Given the description of an element on the screen output the (x, y) to click on. 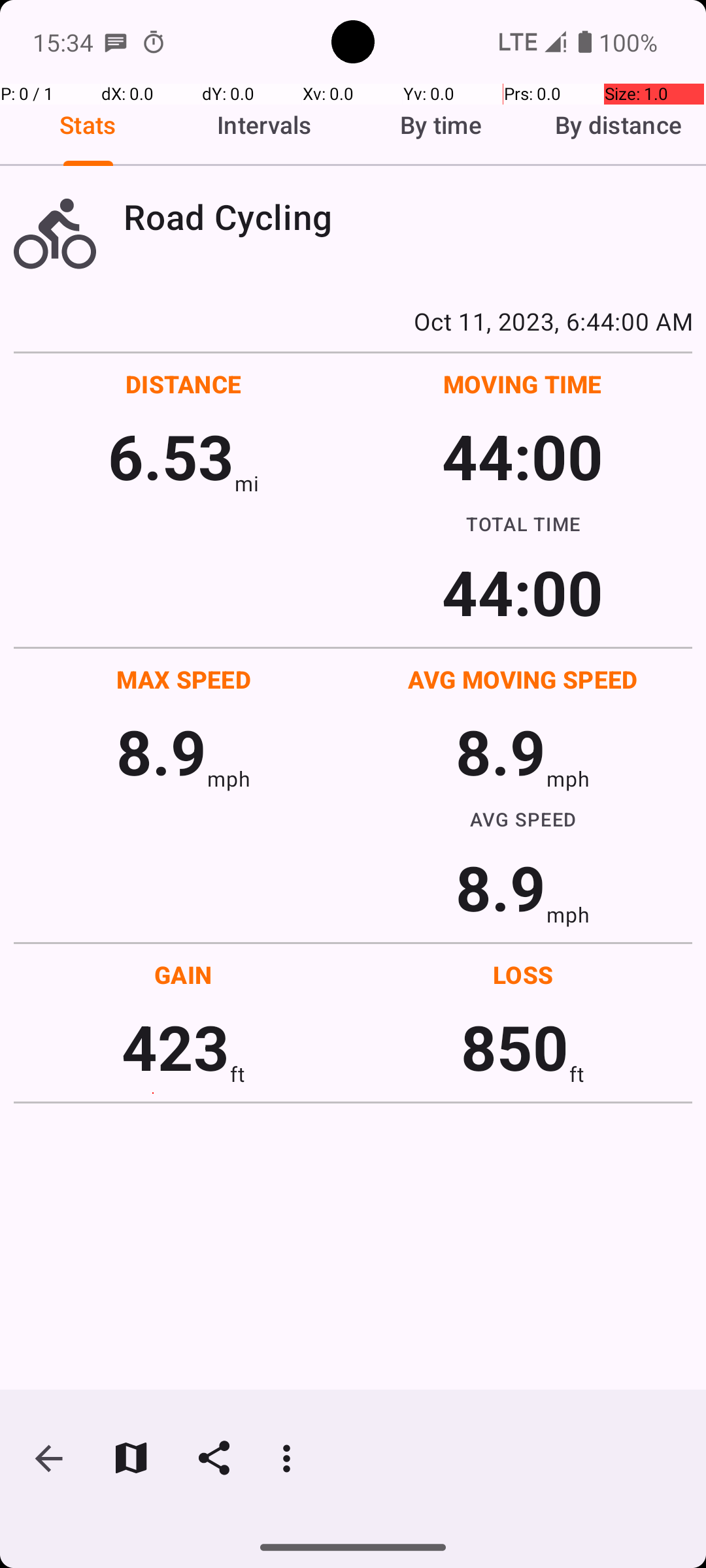
Road Cycling Element type: android.widget.TextView (407, 216)
Oct 11, 2023, 6:44:00 AM Element type: android.widget.TextView (352, 320)
6.53 Element type: android.widget.TextView (170, 455)
44:00 Element type: android.widget.TextView (522, 455)
8.9 Element type: android.widget.TextView (161, 750)
423 Element type: android.widget.TextView (175, 1045)
850 Element type: android.widget.TextView (514, 1045)
